Given the description of an element on the screen output the (x, y) to click on. 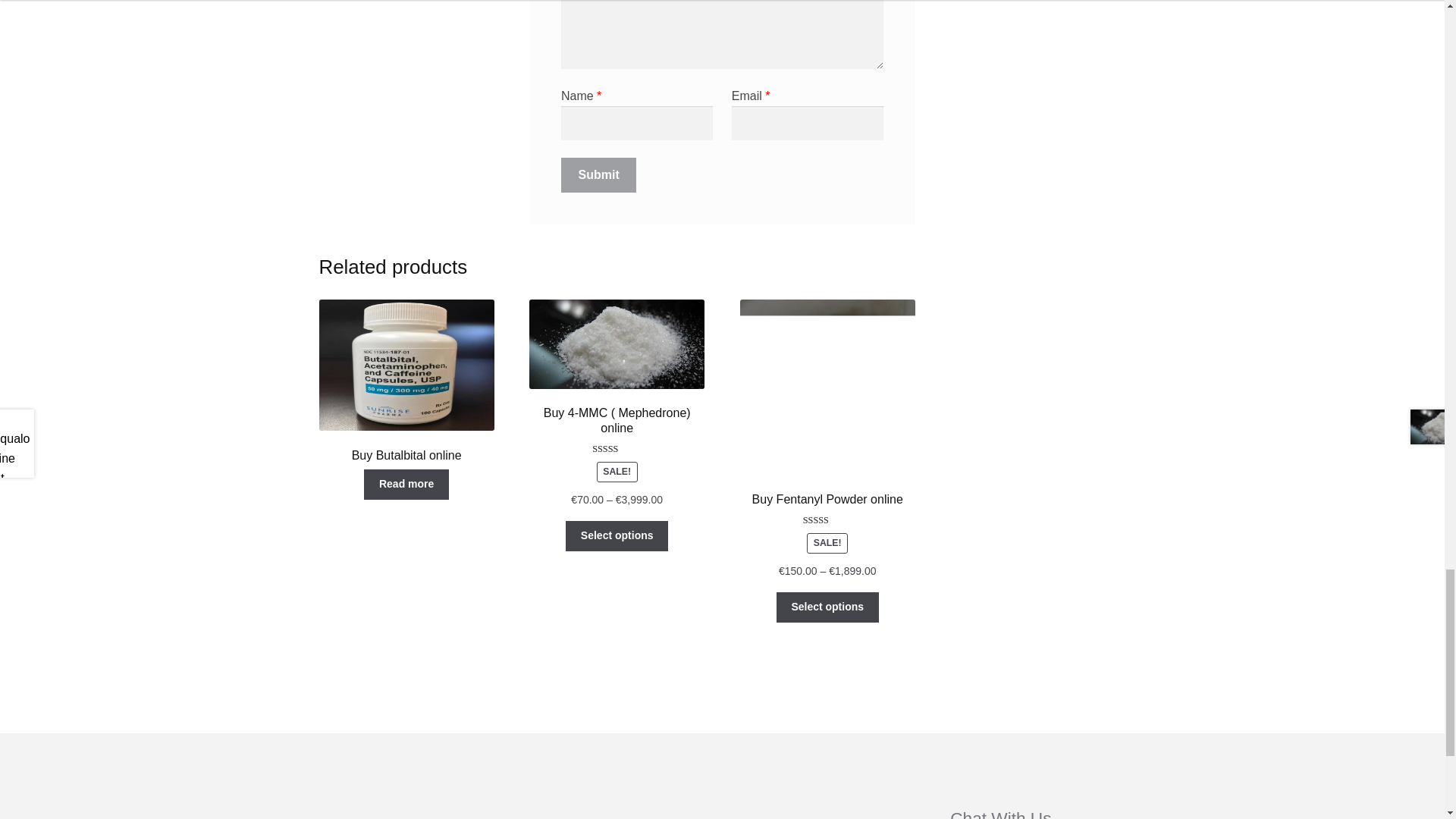
Submit (598, 175)
Submit (598, 175)
Buy Butalbital online (406, 381)
Read more (406, 484)
